Given the description of an element on the screen output the (x, y) to click on. 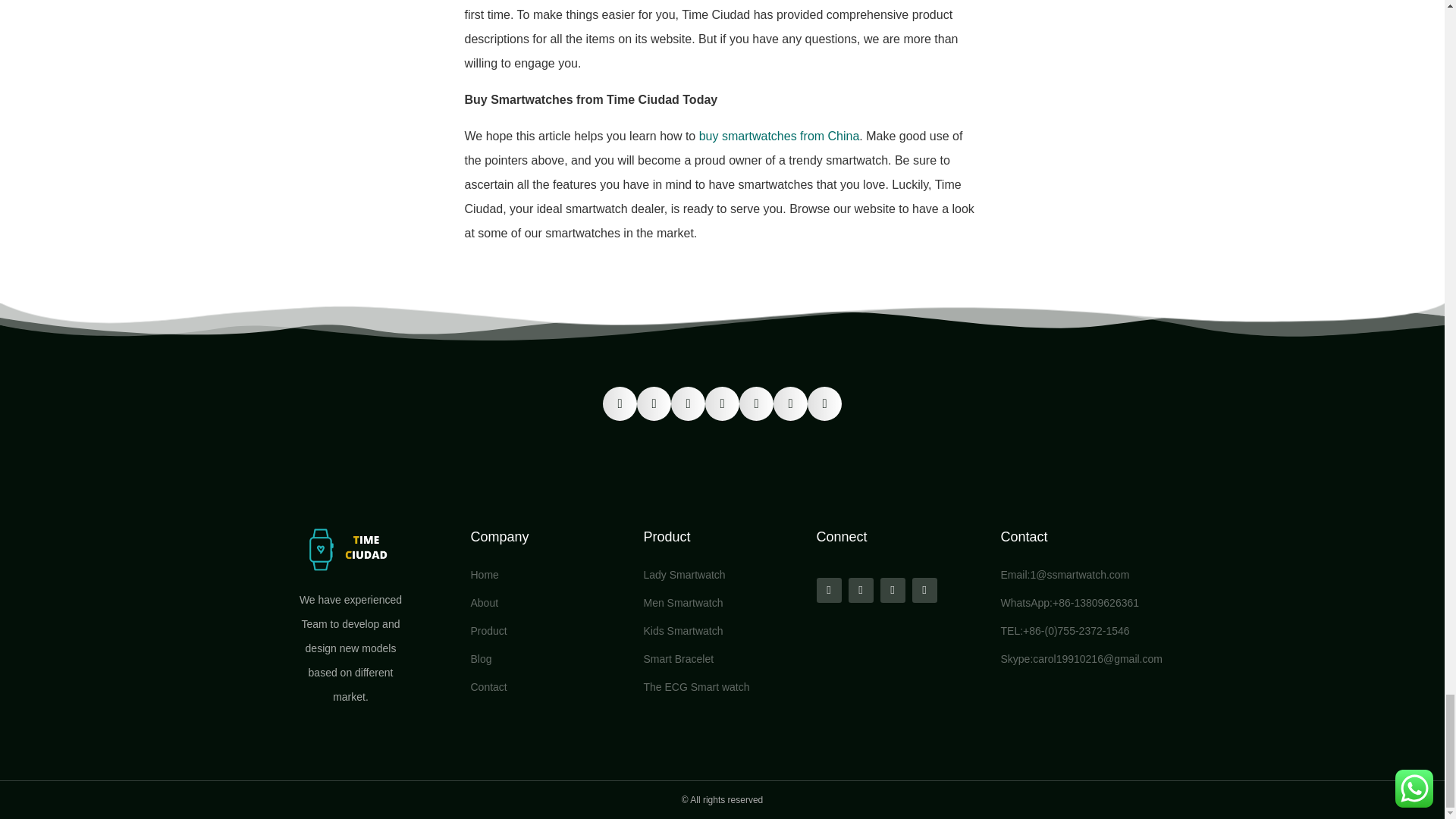
About (548, 602)
Men Smartwatch (721, 602)
buy smartwatches from China (779, 135)
Home (548, 574)
Blog (548, 658)
Lady Smartwatch (721, 574)
Contact (548, 686)
Product (548, 630)
The ECG Smart watch (721, 686)
Contact (1024, 536)
Kids Smartwatch (721, 630)
Smart Bracelet (721, 658)
